Given the description of an element on the screen output the (x, y) to click on. 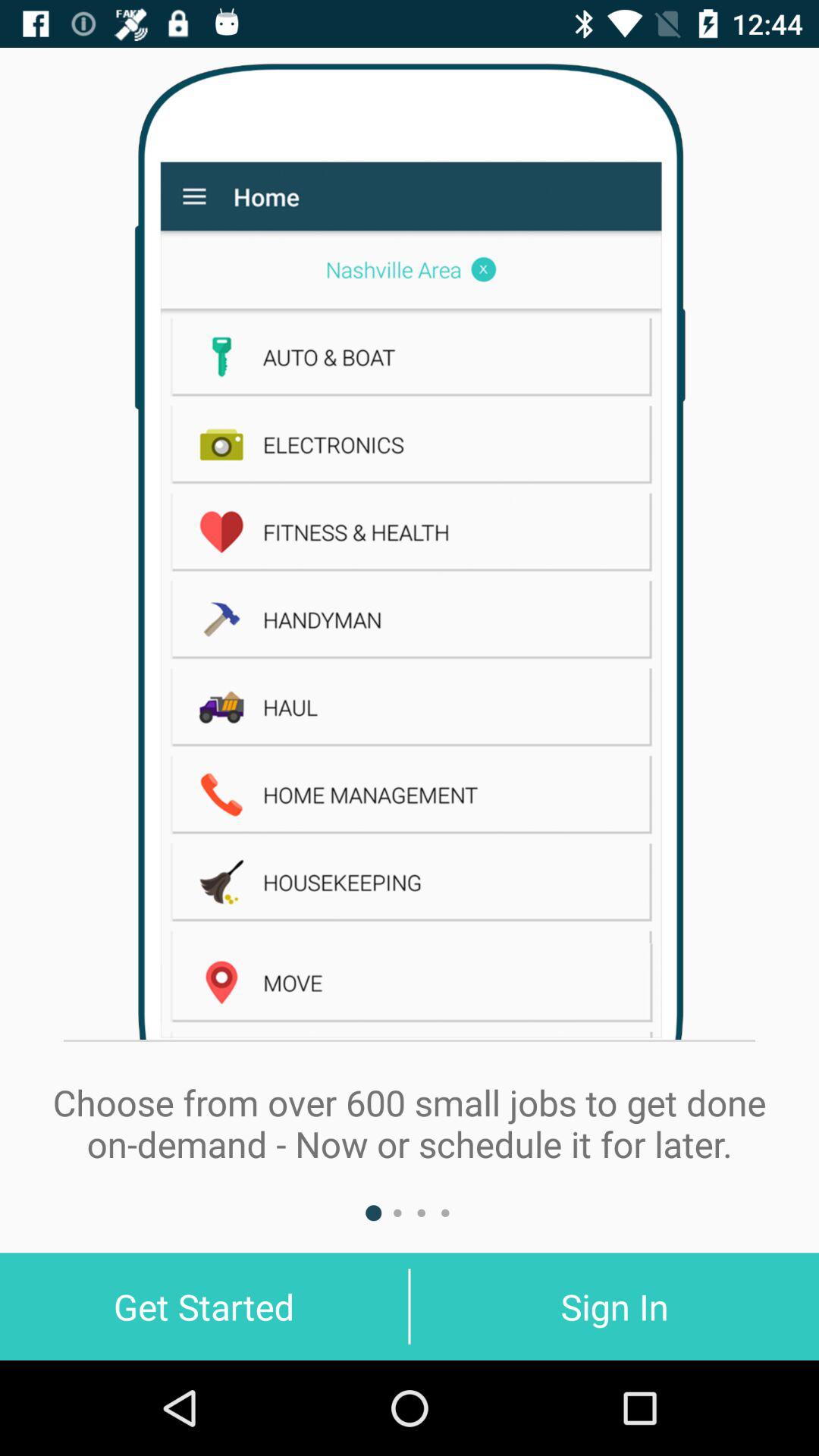
turn on the icon at the bottom right corner (614, 1306)
